Given the description of an element on the screen output the (x, y) to click on. 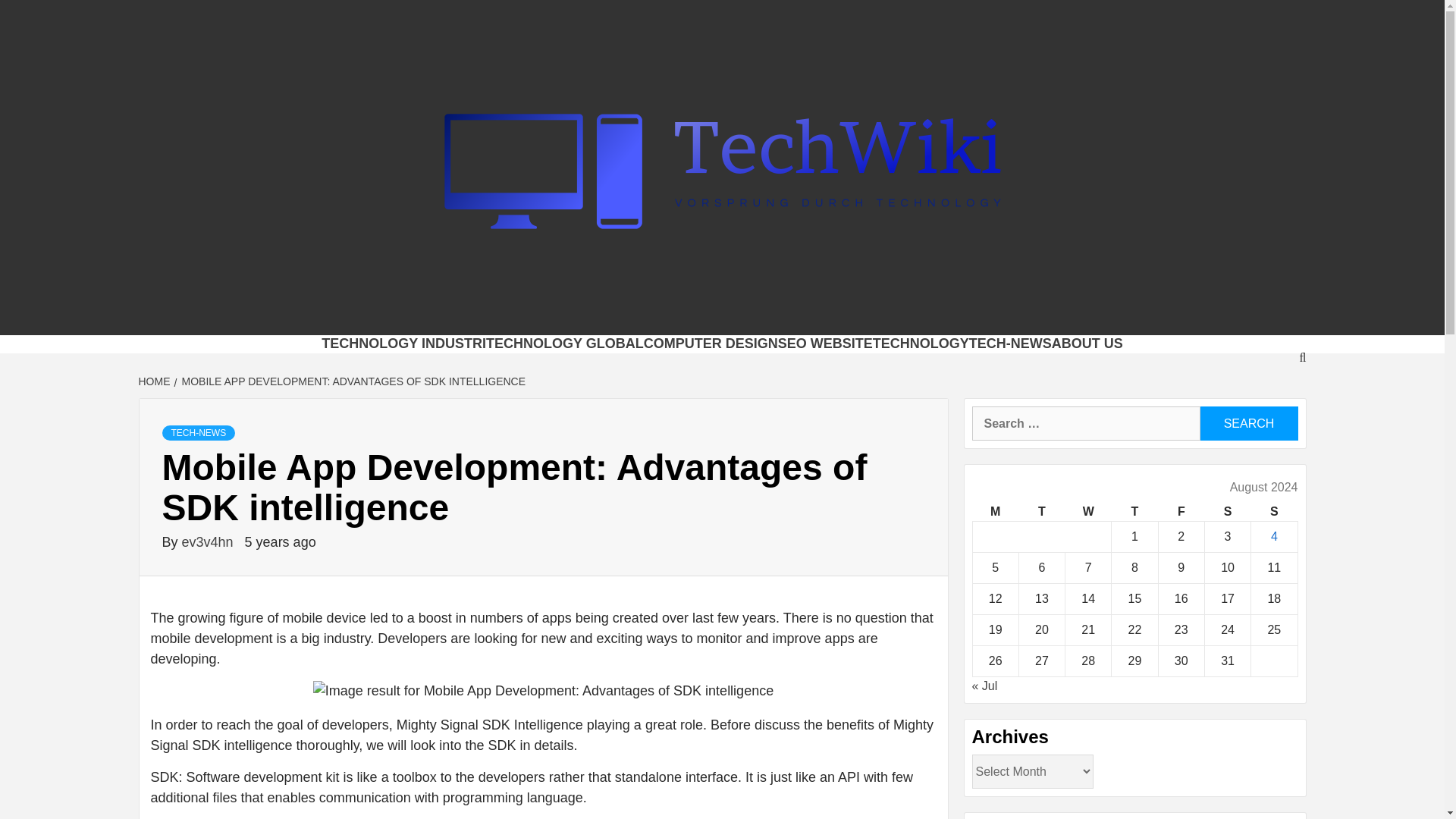
Friday (1180, 511)
HOME (155, 381)
Search (1248, 423)
SEO WEBSITE (824, 343)
Thursday (1134, 511)
Saturday (1227, 511)
TECHNOLOGY (920, 343)
ABOUT US (1086, 343)
COMPUTER DESIGN (710, 343)
TECHNOLOGY GLOBAL (564, 343)
Sunday (1273, 511)
Search (1248, 423)
Search (1248, 423)
TECHWIKI (328, 315)
Tuesday (1040, 511)
